Given the description of an element on the screen output the (x, y) to click on. 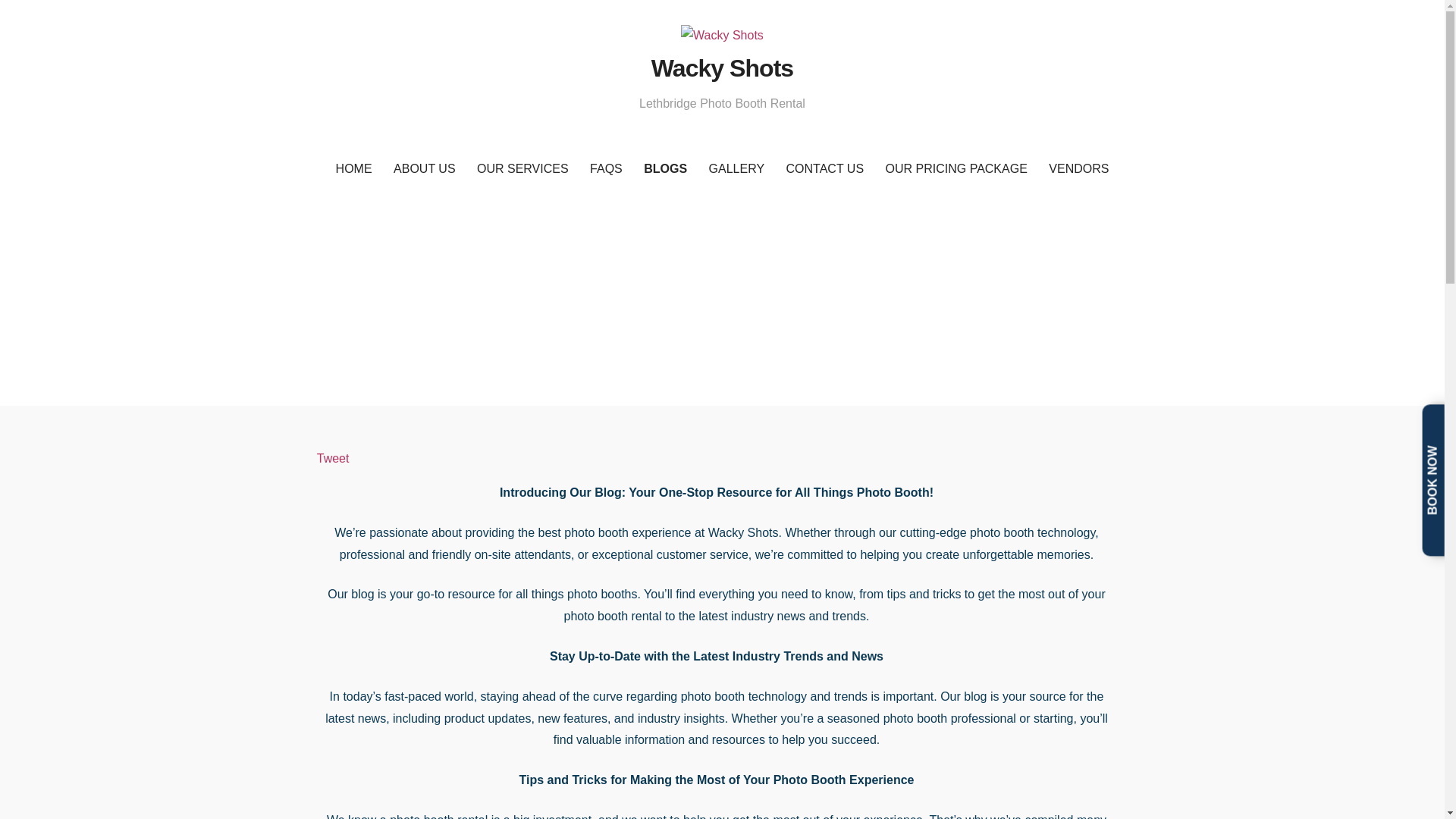
Wacky Shots (721, 67)
HOME (353, 169)
OUR PRICING PACKAGE (956, 169)
ABOUT US (424, 169)
CONTACT US (825, 169)
VENDORS (1078, 169)
GALLERY (737, 169)
OUR SERVICES (522, 169)
Tweet (333, 458)
BLOGS (664, 169)
